Given the description of an element on the screen output the (x, y) to click on. 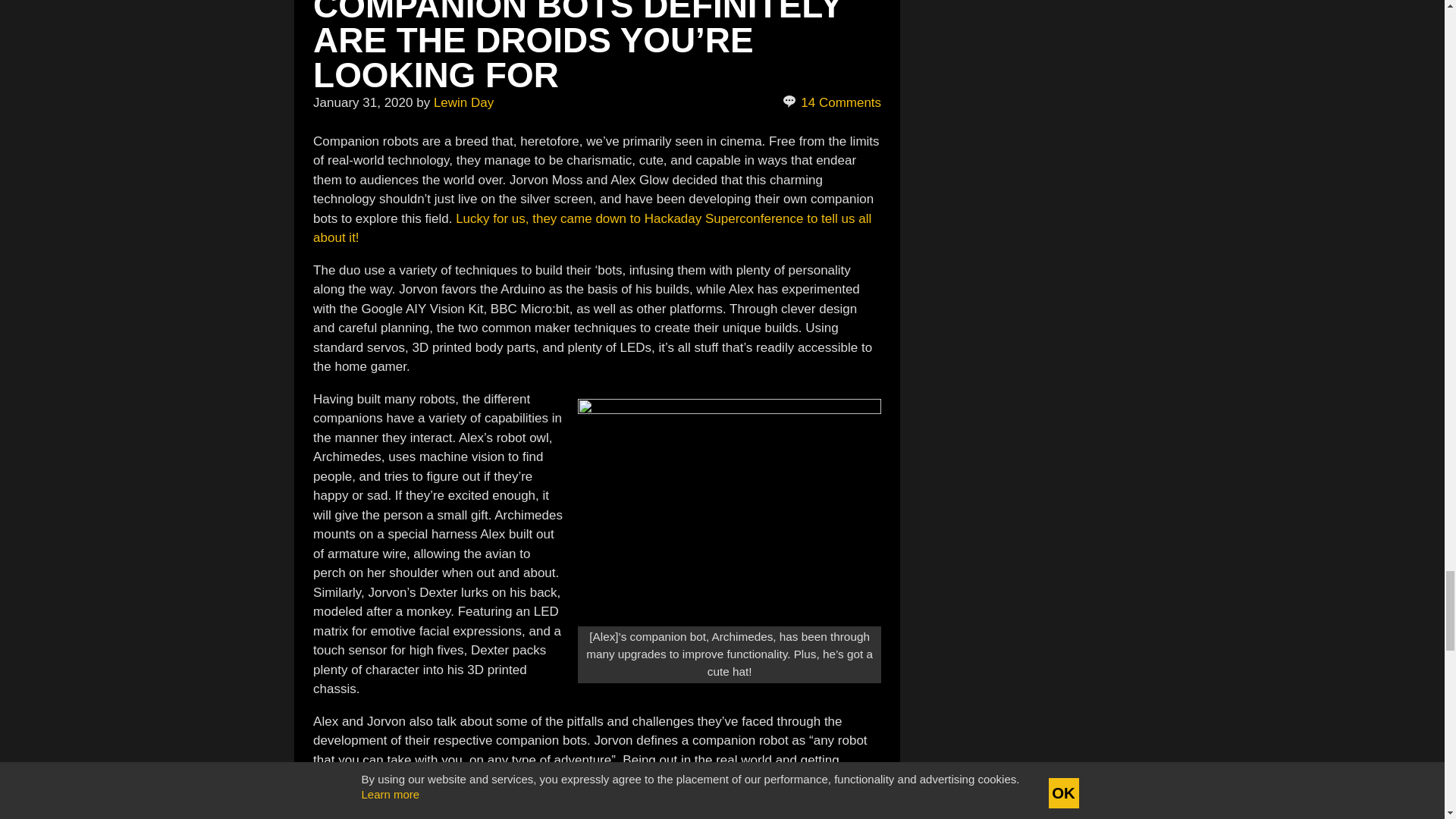
January 31, 2020 - 11:31 am (362, 102)
Posts by Lewin Day (463, 102)
